Given the description of an element on the screen output the (x, y) to click on. 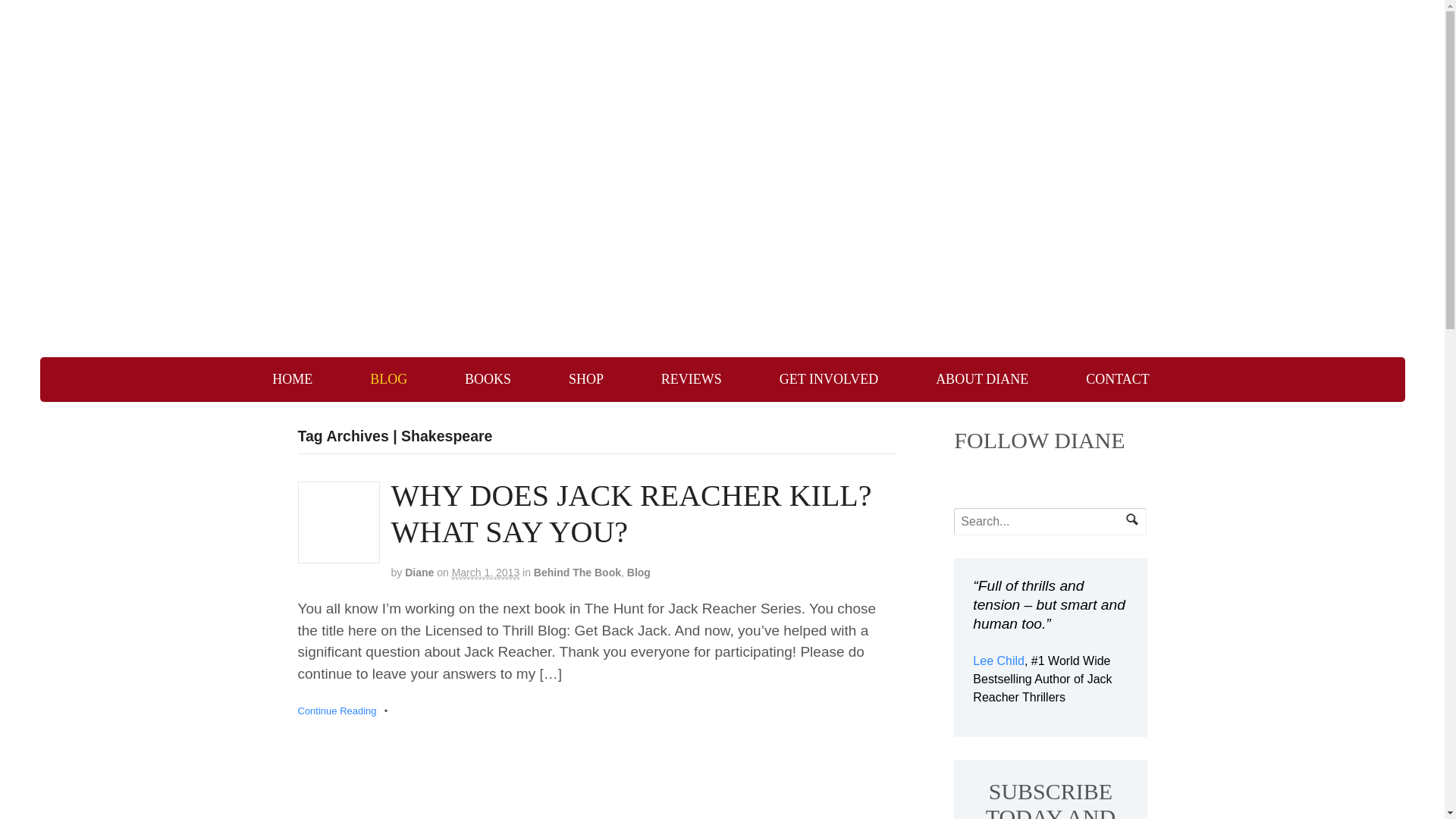
HOME (291, 379)
Continue Reading (336, 710)
GET INVOLVED (828, 379)
Search... (1042, 521)
Posts by Diane (418, 572)
SHOP (585, 379)
ABOUT DIANE (981, 379)
Behind The Book (577, 572)
BOOKS (488, 379)
BLOG (387, 379)
